Given the description of an element on the screen output the (x, y) to click on. 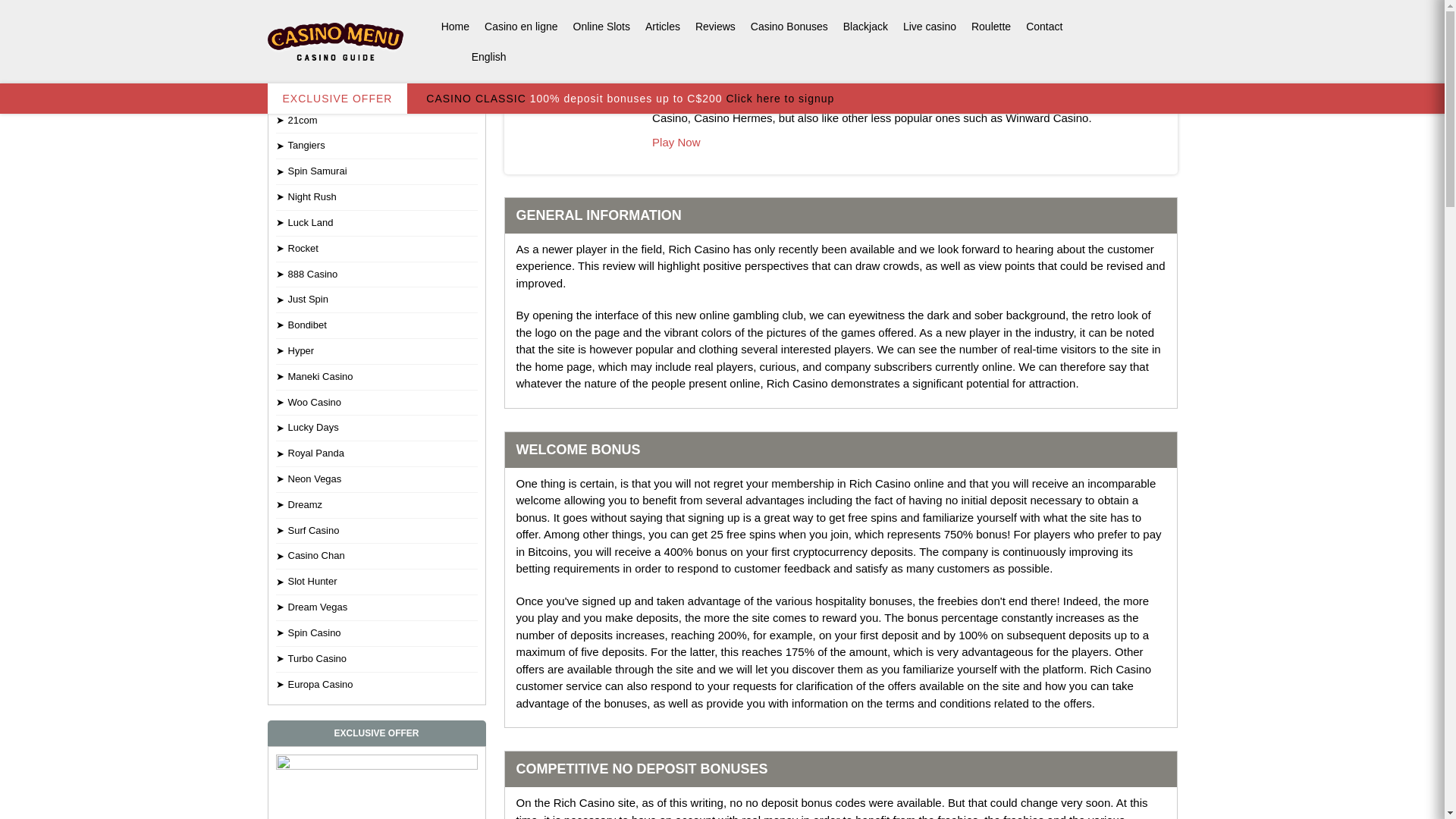
Casino en ligne (521, 26)
Articles (662, 26)
Roulette (990, 26)
Home (455, 26)
Reviews (714, 26)
Online Slots (601, 26)
Blackjack (865, 26)
RichCasino (565, 84)
Live casino (929, 26)
Contact (1043, 26)
